Given the description of an element on the screen output the (x, y) to click on. 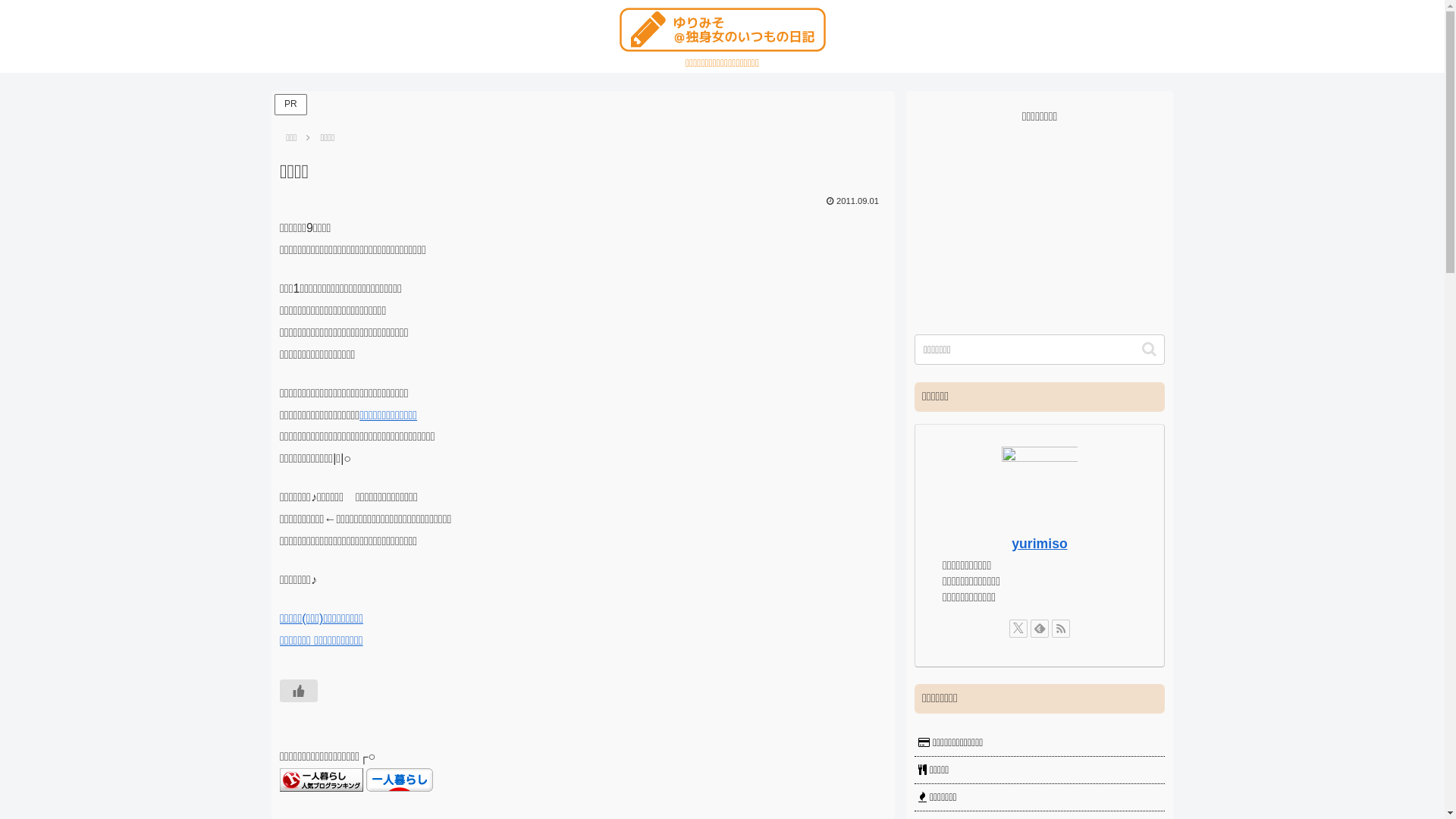
Advertisement Element type: hover (1039, 222)
yurimiso Element type: text (1038, 543)
